Given the description of an element on the screen output the (x, y) to click on. 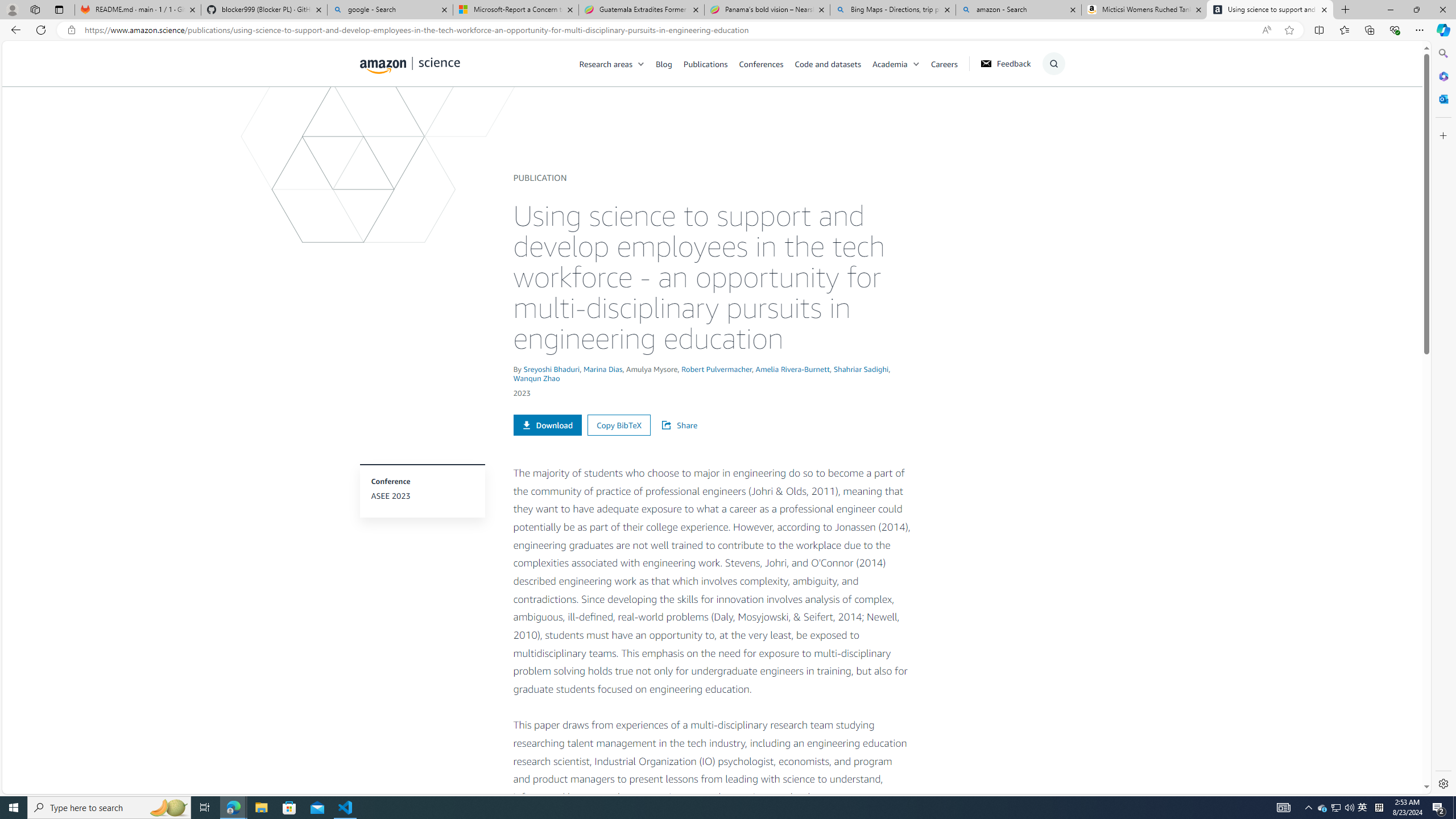
Download (547, 424)
Robert Pulvermacher (716, 368)
Wanqun Zhao (536, 377)
Conferences (766, 63)
Publications (710, 63)
Research areas (617, 63)
